Given the description of an element on the screen output the (x, y) to click on. 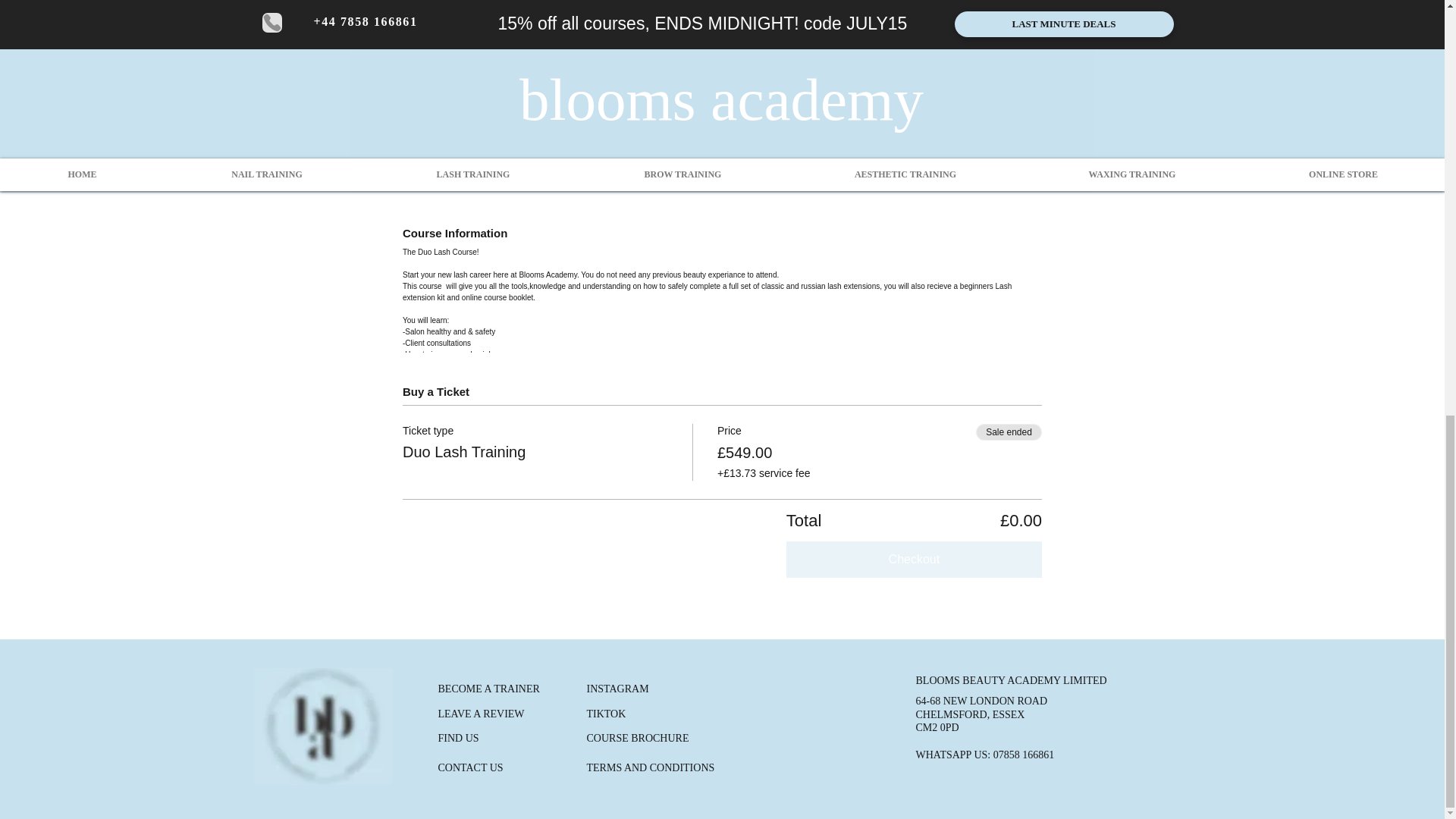
BECOME A TRAINER (489, 688)
Checkout (914, 559)
